Given the description of an element on the screen output the (x, y) to click on. 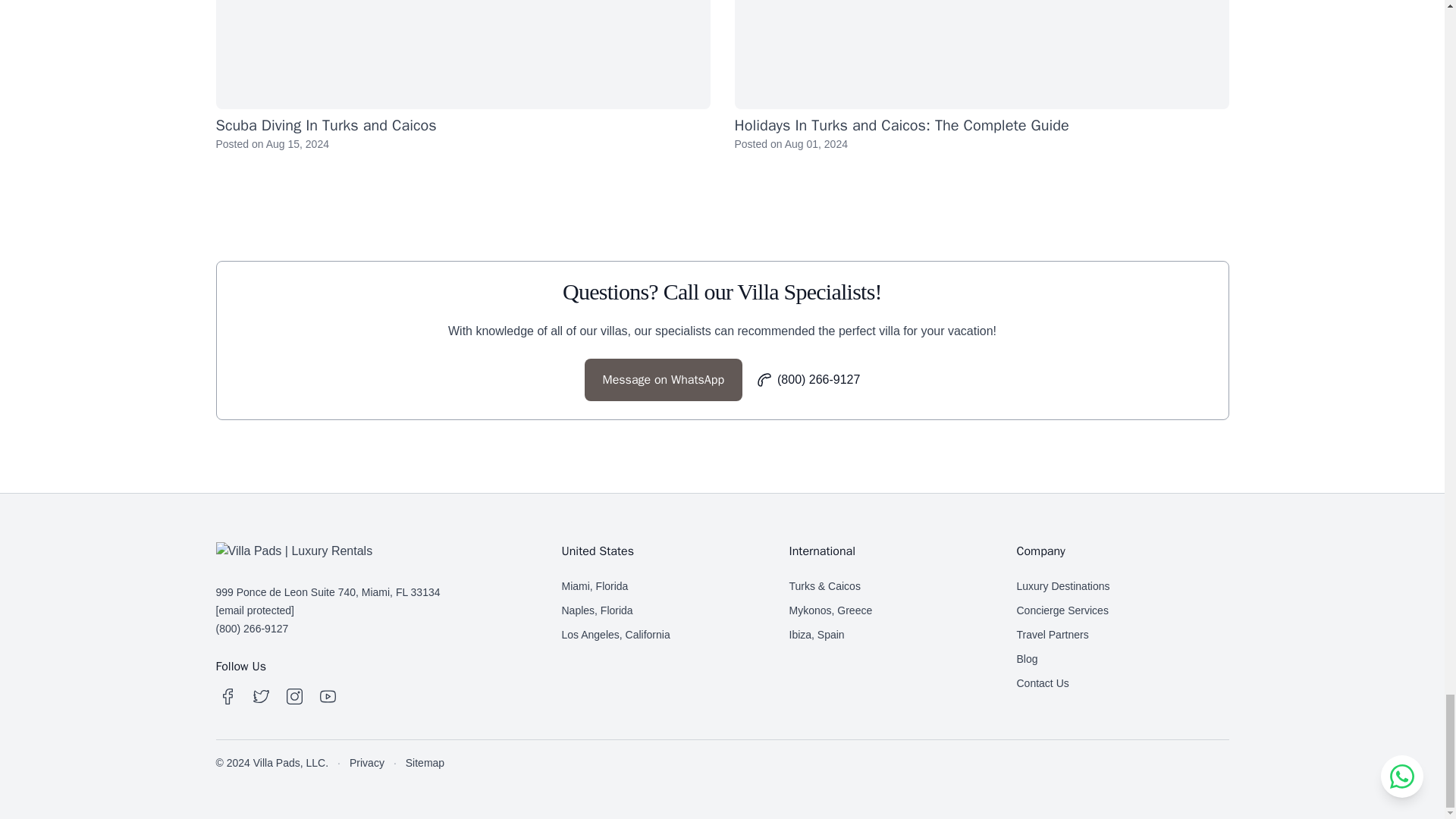
Facebook (227, 696)
YouTube (327, 696)
Twitter (260, 696)
Instagram (293, 696)
